Given the description of an element on the screen output the (x, y) to click on. 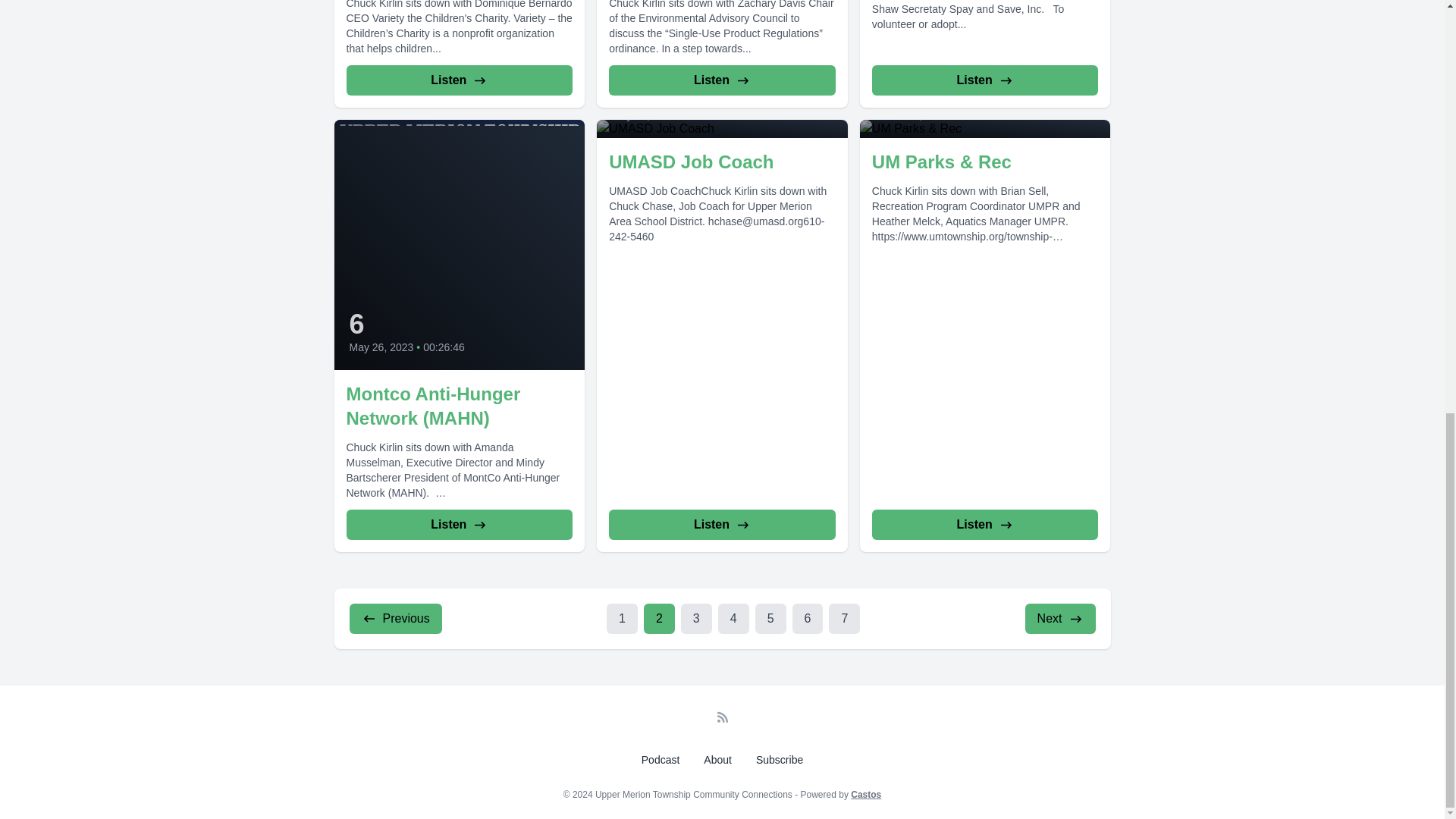
7 (844, 618)
5 (770, 618)
1 (622, 618)
3 (696, 618)
6 (808, 618)
4 (733, 618)
Castos (865, 794)
Podcast (659, 759)
Next (1060, 618)
Powered by Castos (865, 794)
Previous (395, 618)
Subscribe (779, 759)
About (717, 759)
